Given the description of an element on the screen output the (x, y) to click on. 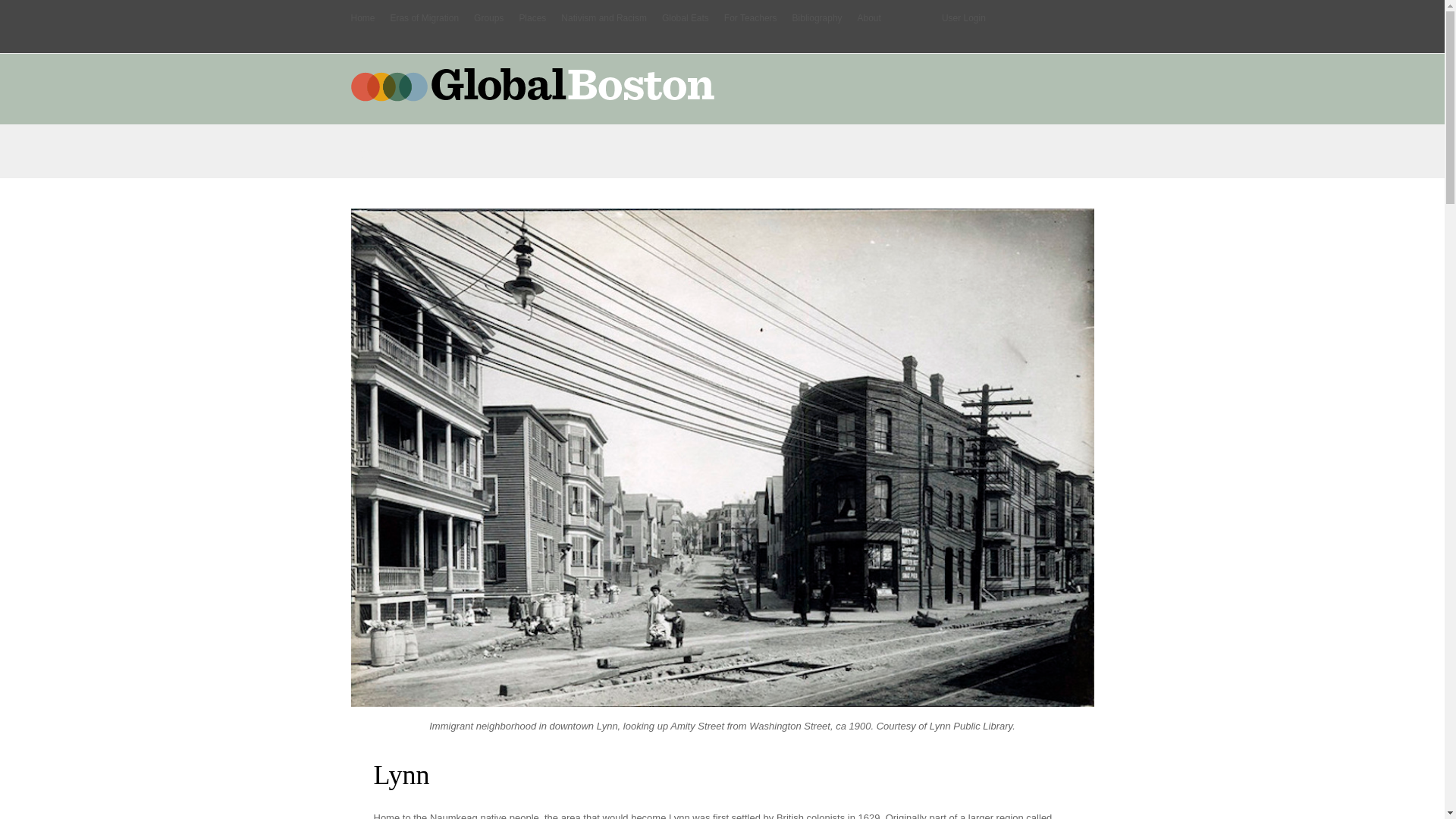
Bibliography (817, 18)
Home (362, 18)
Groups (488, 18)
About (868, 18)
For Teachers (750, 18)
Nativism and Racism (603, 18)
Places (532, 18)
Global Eats (685, 18)
User Login (963, 18)
Eras of Migration (424, 18)
